Given the description of an element on the screen output the (x, y) to click on. 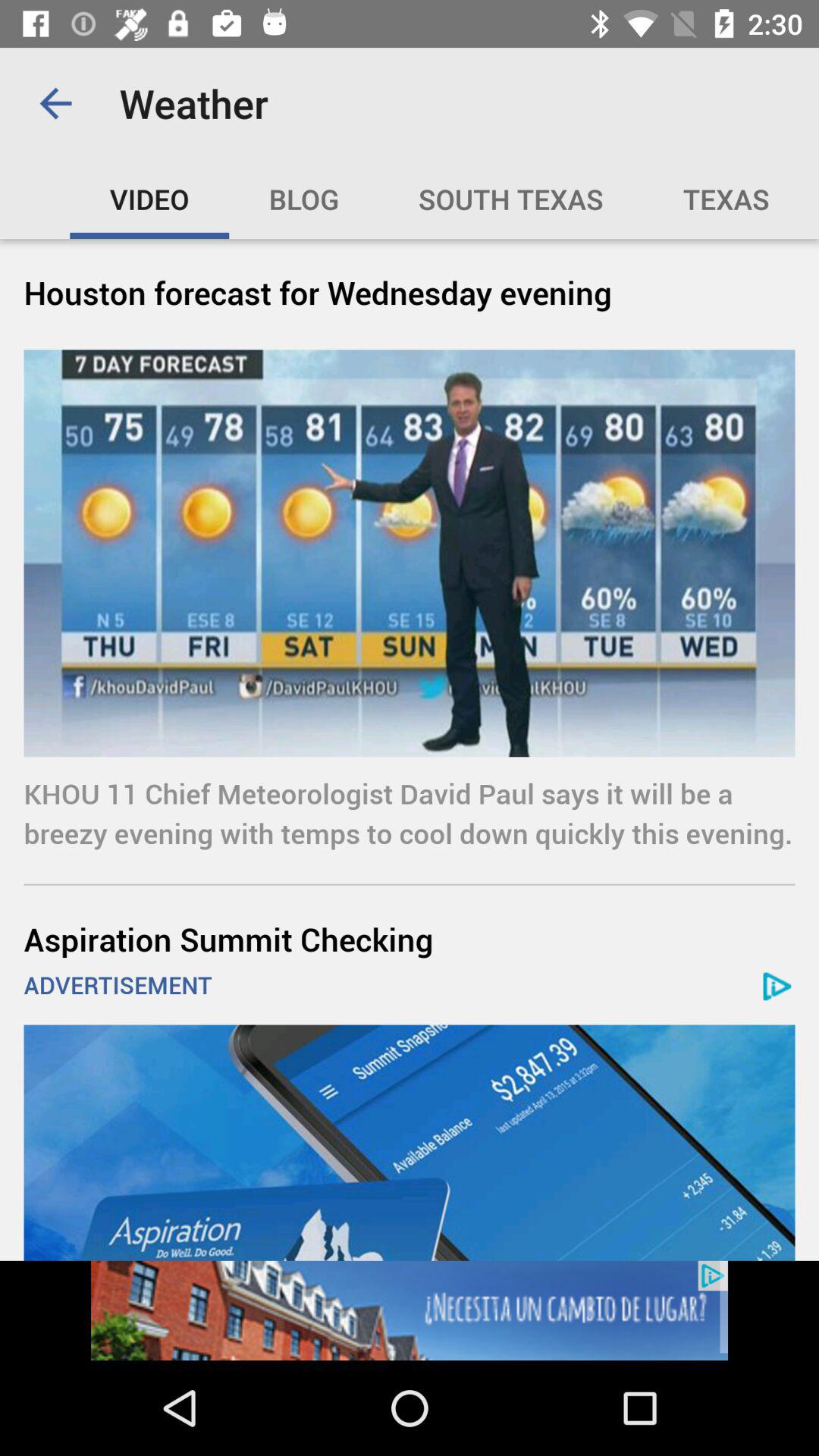
selected advertisement (409, 1310)
